Given the description of an element on the screen output the (x, y) to click on. 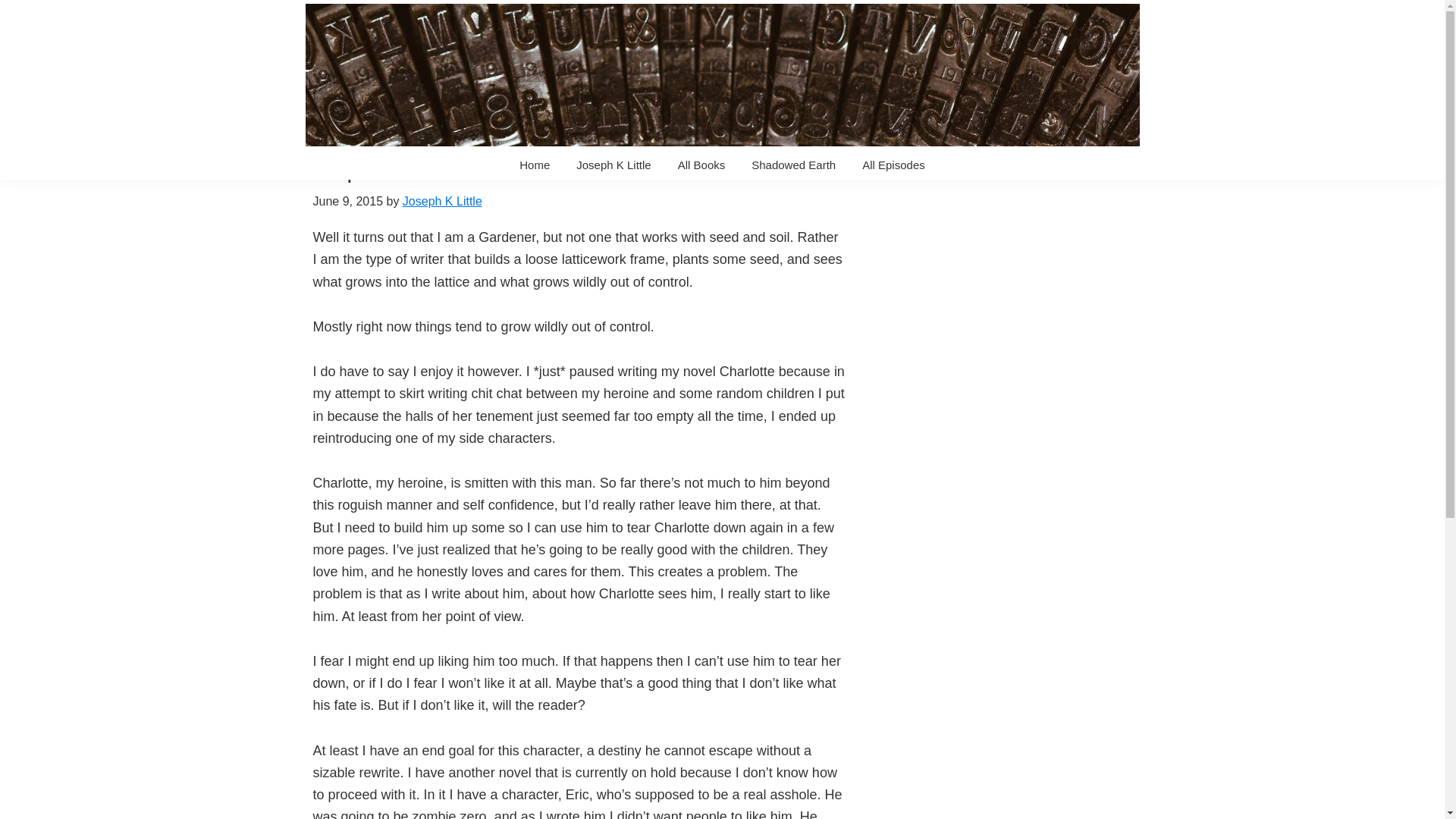
Shadowed Earth (793, 164)
Home (404, 107)
Uncategorized (469, 107)
Home (534, 164)
Joseph K Little (331, 168)
Joseph K Little (442, 201)
All Episodes (893, 164)
About (613, 164)
Joseph K Little (613, 164)
